Given the description of an element on the screen output the (x, y) to click on. 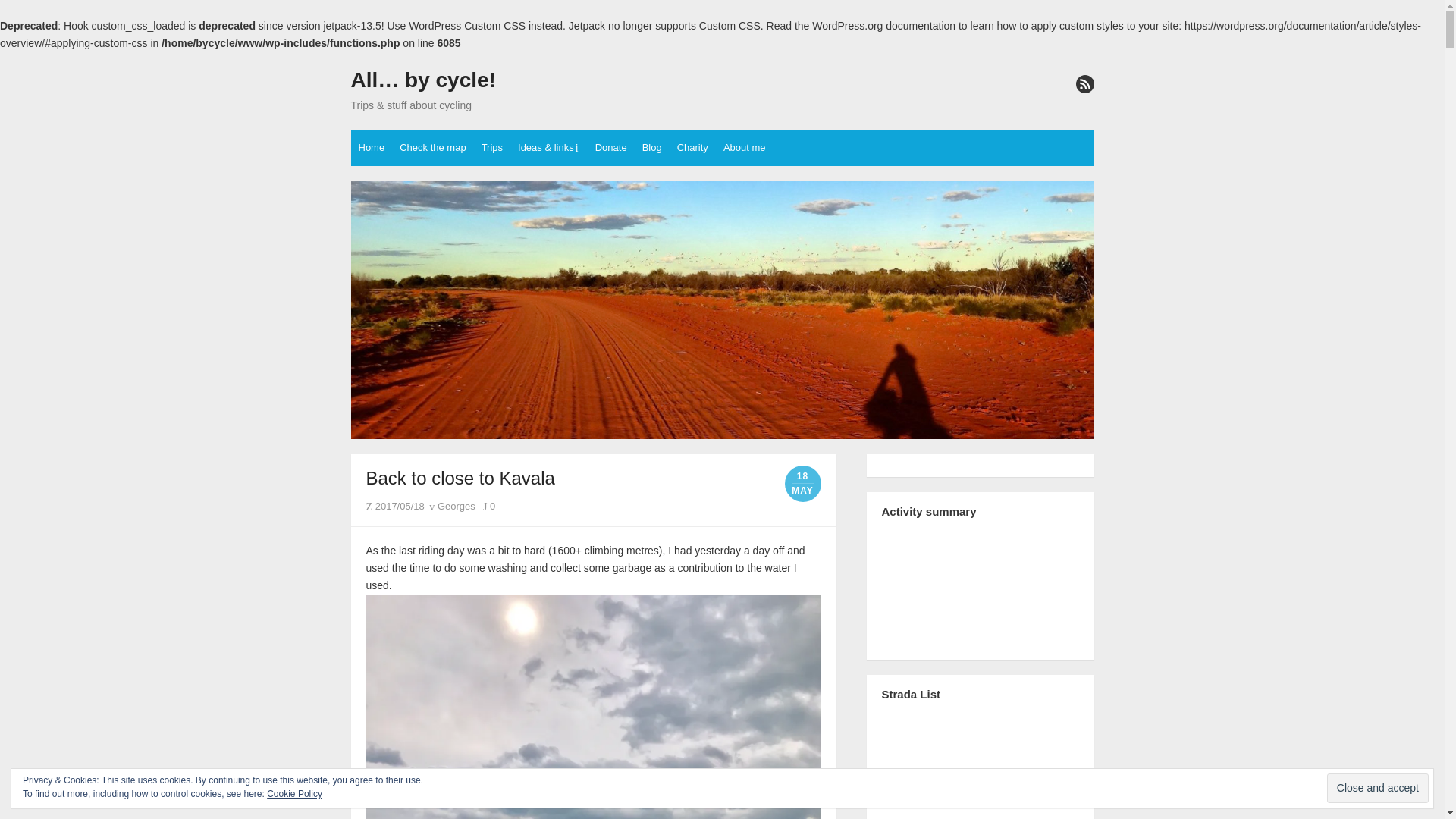
About me (744, 147)
Donate (611, 147)
Georges (451, 505)
Trips (492, 147)
Blog (651, 147)
Close and accept (1377, 788)
rss (1084, 84)
0 (489, 505)
Home (370, 147)
